Given the description of an element on the screen output the (x, y) to click on. 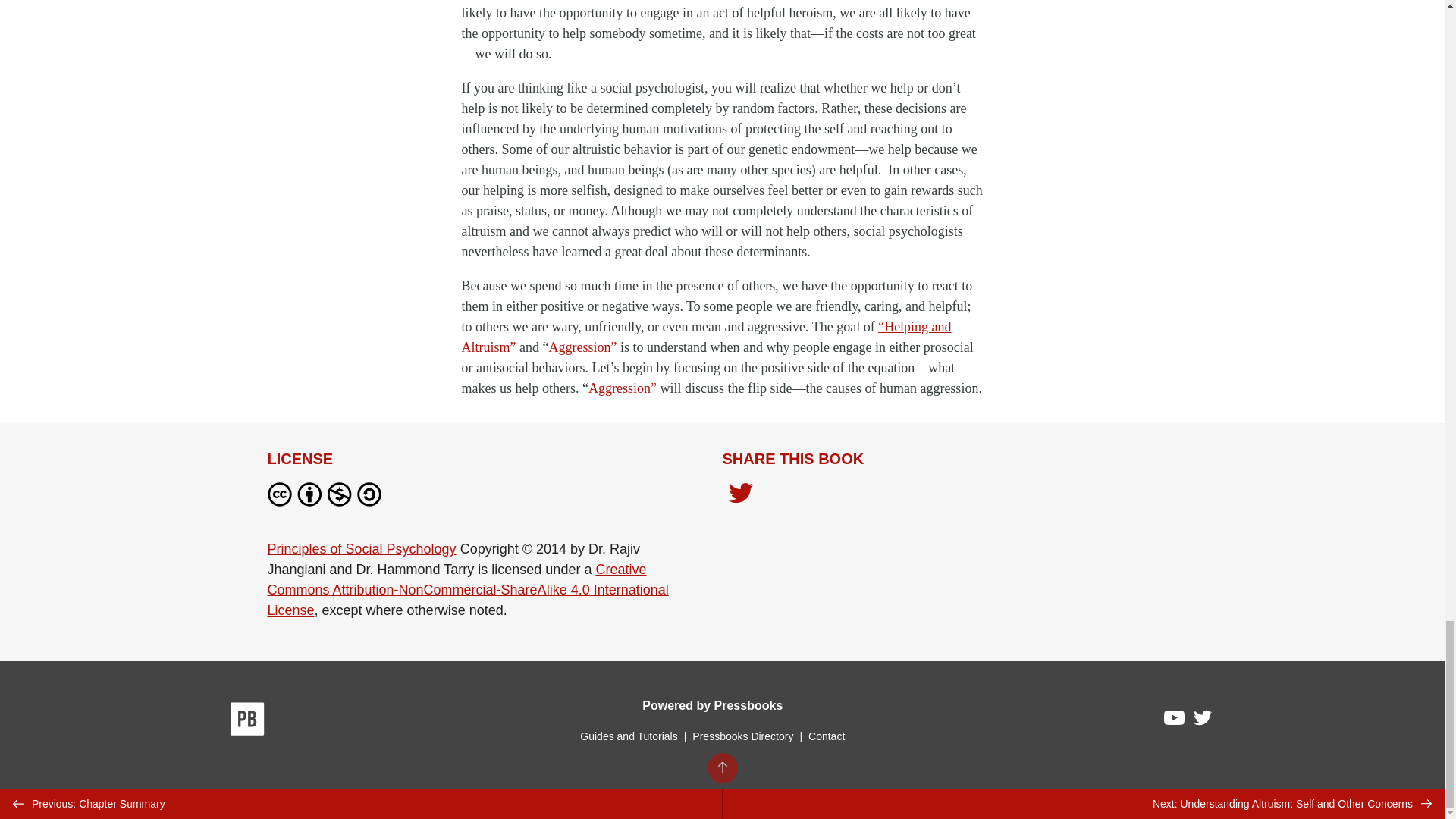
Share on Twitter (740, 494)
Contact (826, 736)
Principles of Social Psychology (360, 548)
Guides and Tutorials (627, 736)
Pressbooks on YouTube (1174, 721)
Share on Twitter (740, 496)
Powered by Pressbooks (712, 705)
Pressbooks Directory (742, 736)
